Given the description of an element on the screen output the (x, y) to click on. 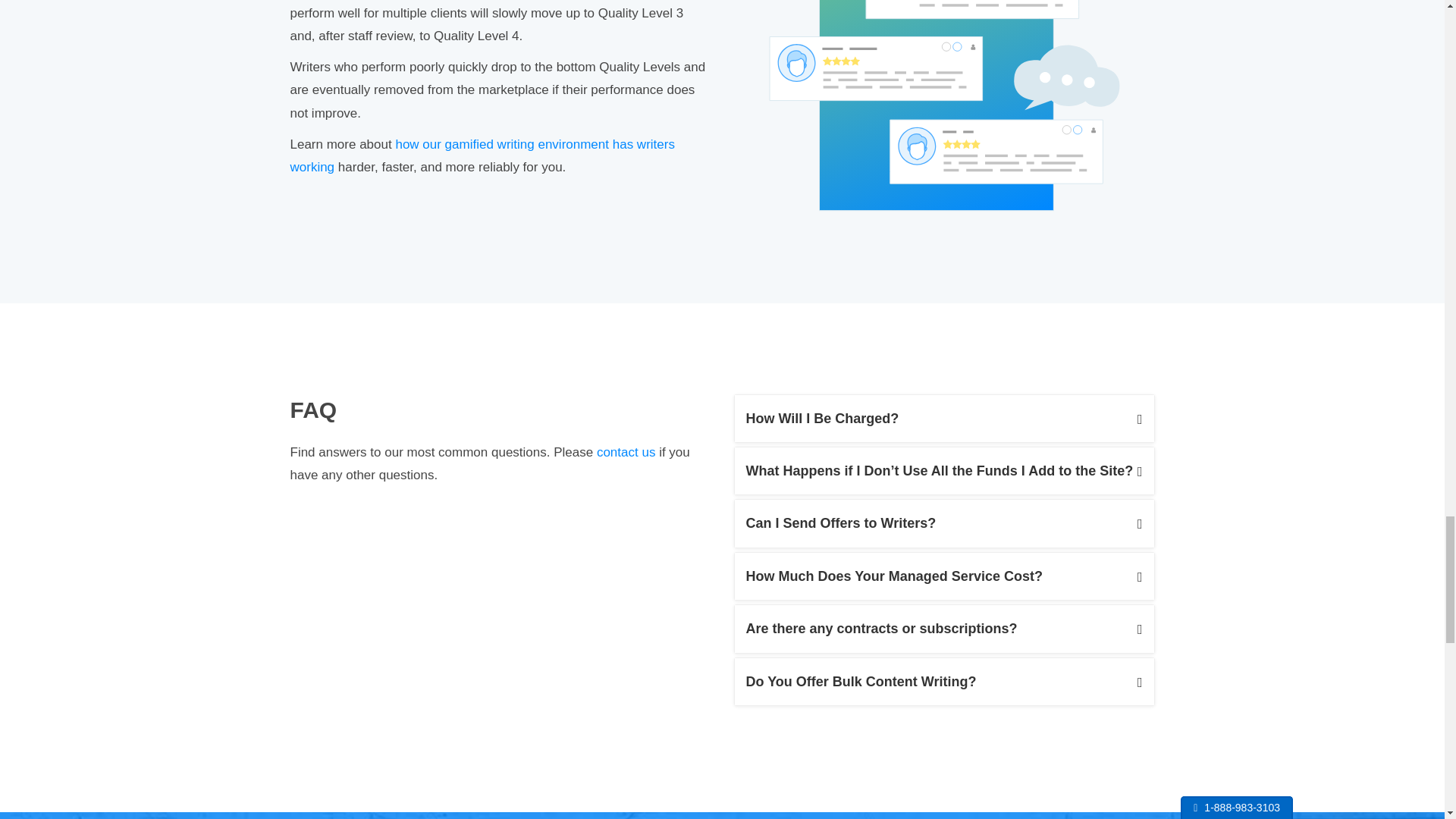
how our gamified writing environment has writers working (481, 156)
contact us (626, 452)
How Much Does Your Managed Service Cost? (943, 575)
Can I Send Offers to Writers? (943, 523)
Are there any contracts or subscriptions? (943, 628)
How Will I Be Charged? (943, 418)
